Given the description of an element on the screen output the (x, y) to click on. 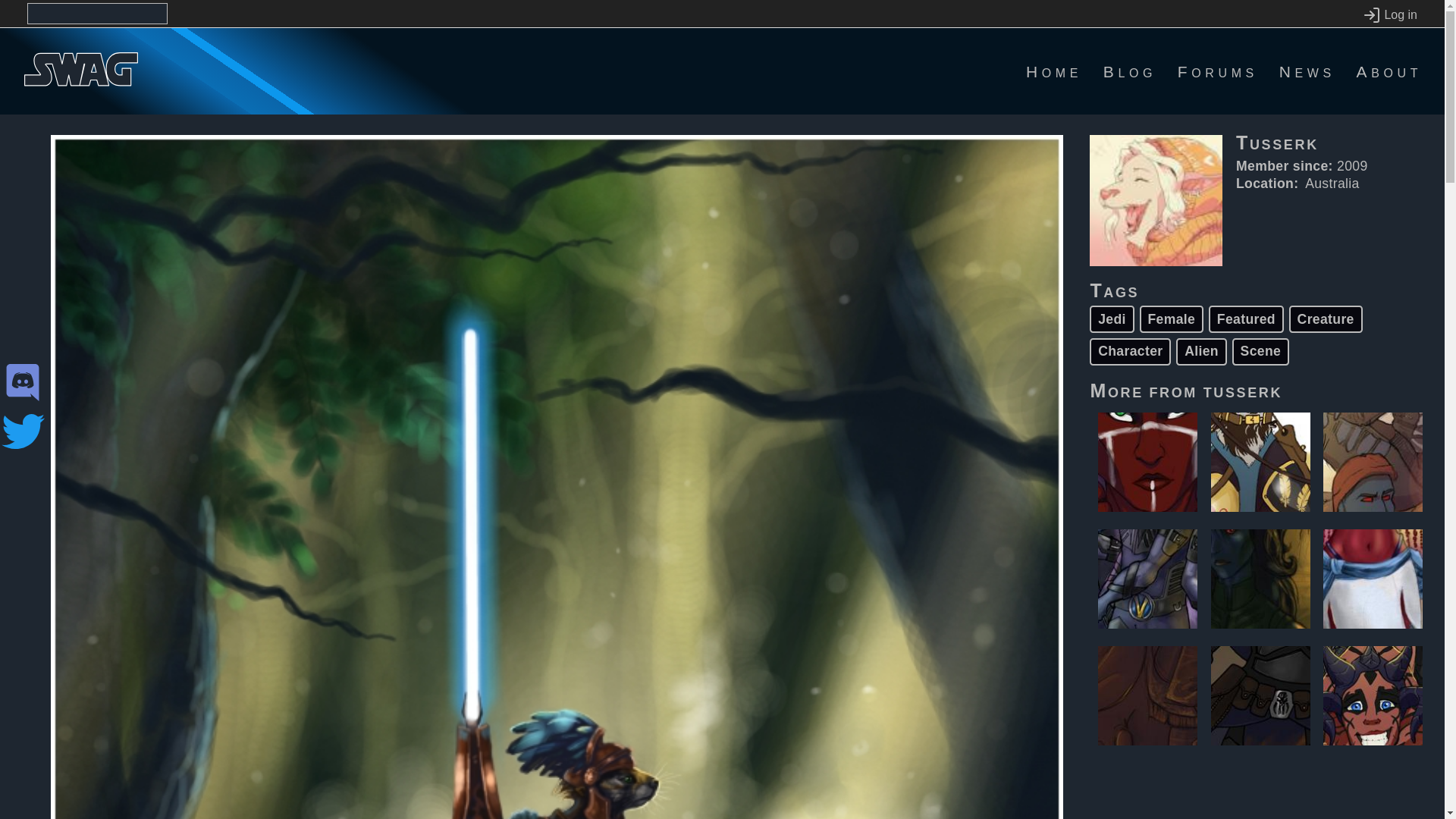
Log in (1389, 14)
Blog (1129, 71)
View user profile. (1243, 390)
News (1307, 71)
About (1389, 71)
Home (1053, 71)
Enter the terms you wish to search for. (97, 13)
Forums (1217, 71)
